Given the description of an element on the screen output the (x, y) to click on. 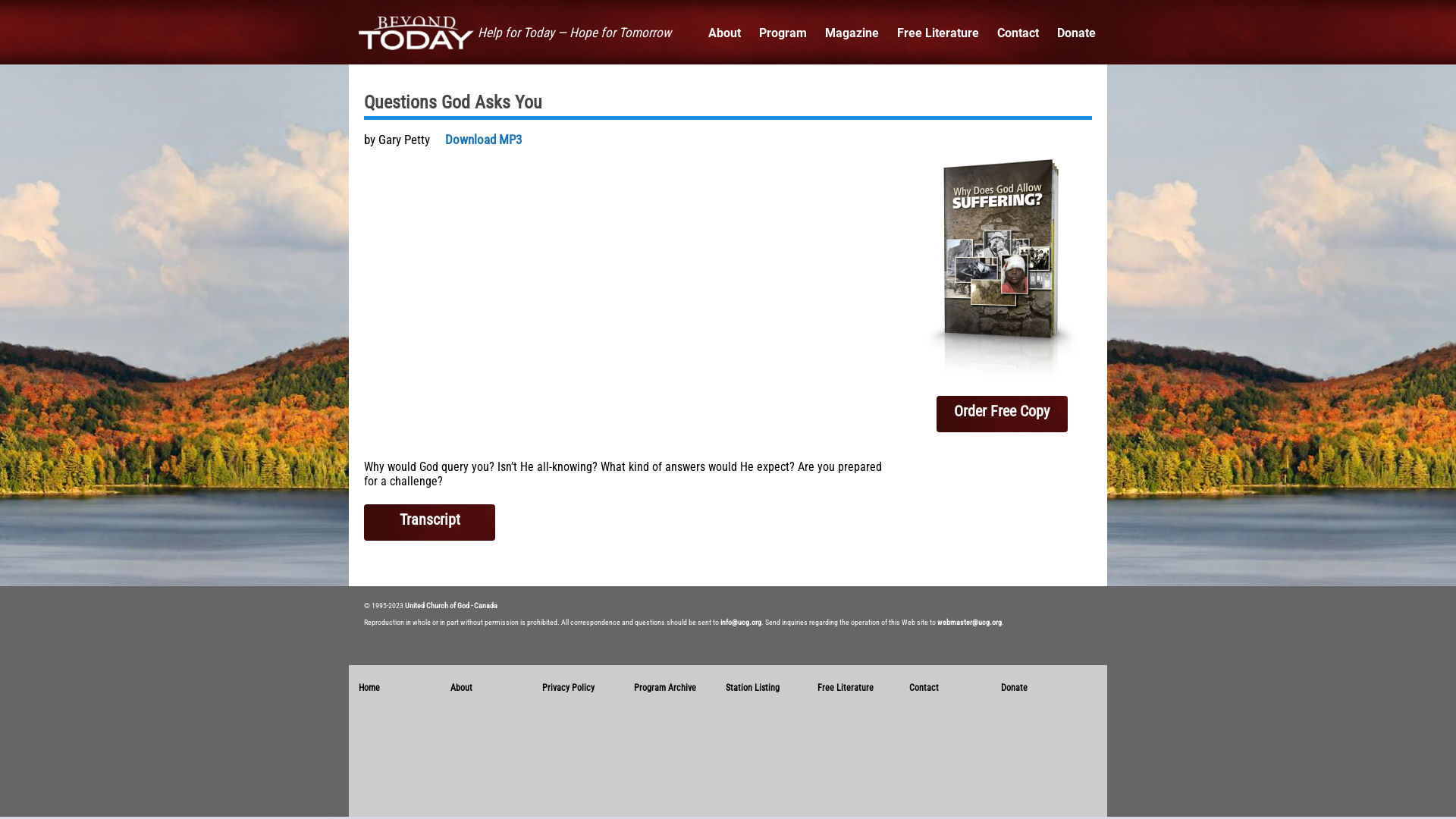
webmaster@ucg.org Element type: text (969, 622)
Beyond Today -- Questions God Asks You Element type: hover (629, 307)
  Program   Element type: text (782, 32)
  Contact   Element type: text (1018, 32)
Download MP3 Element type: text (483, 139)
  Free Literature   Element type: text (938, 32)
About Element type: text (461, 687)
Donate Element type: text (1014, 687)
Contact Element type: text (923, 687)
  Donate   Element type: text (1076, 32)
Home Element type: text (368, 687)
Station Listing Element type: text (752, 687)
info@ucg.org Element type: text (740, 622)
United Church of God - Canada Element type: text (450, 605)
Program Archive Element type: text (664, 687)
  About   Element type: text (724, 32)
Privacy Policy Element type: text (568, 687)
  Magazine   Element type: text (851, 32)
Free Literature Element type: text (845, 687)
Order Free Copy Element type: text (1000, 413)
